Given the description of an element on the screen output the (x, y) to click on. 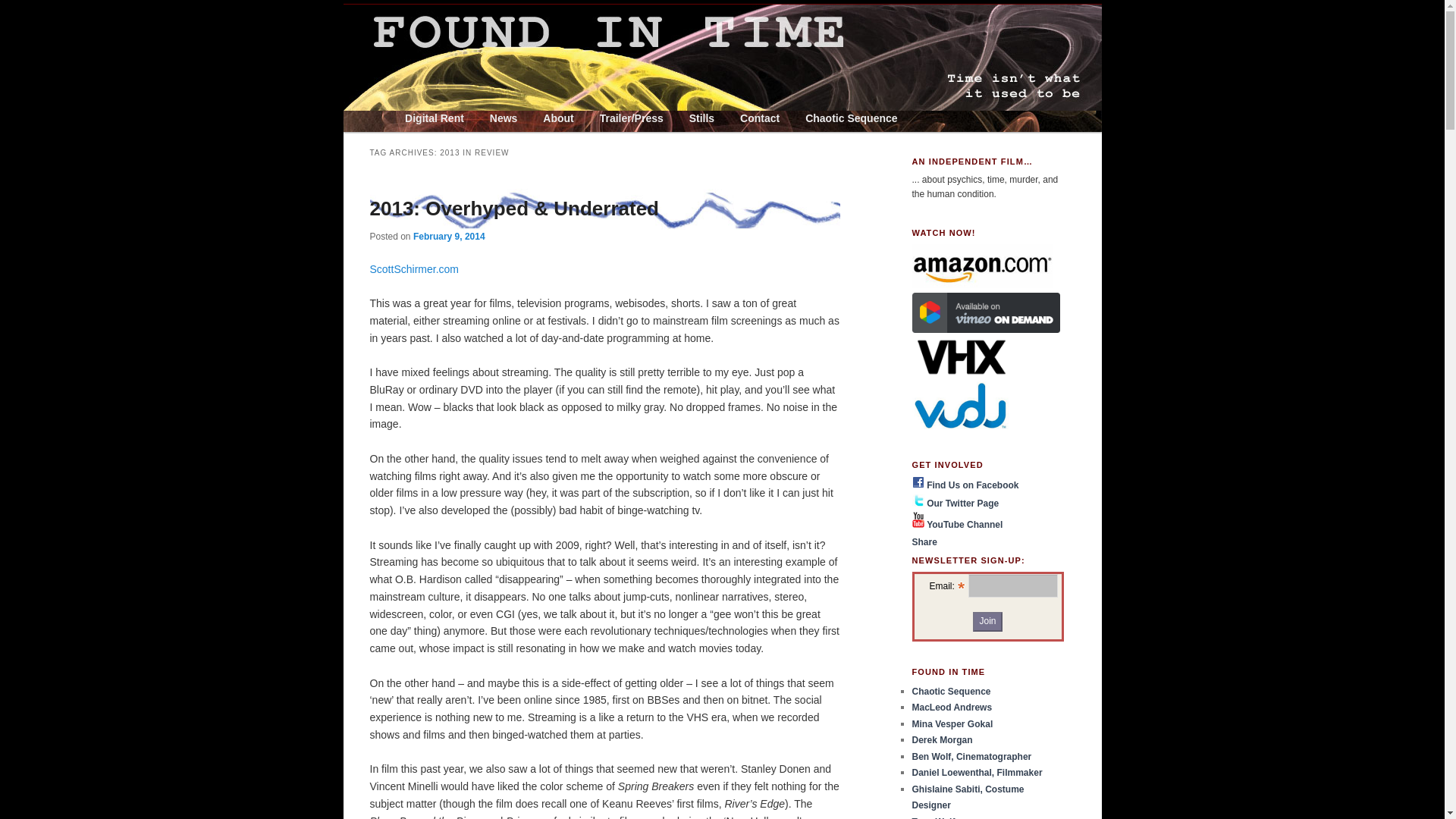
February 9, 2014 (448, 235)
11:25 pm (448, 235)
Stills (701, 118)
Digital Rent (434, 118)
Skip to secondary content (474, 118)
News (504, 118)
Chaotic Sequence (851, 118)
Skip to secondary content (474, 118)
Skip to primary content (467, 118)
Official site of Derek Morgan, one of our lead actors (941, 739)
Skip to primary content (467, 118)
Found In Time (477, 56)
About (557, 118)
Contact (759, 118)
Join (986, 621)
